Given the description of an element on the screen output the (x, y) to click on. 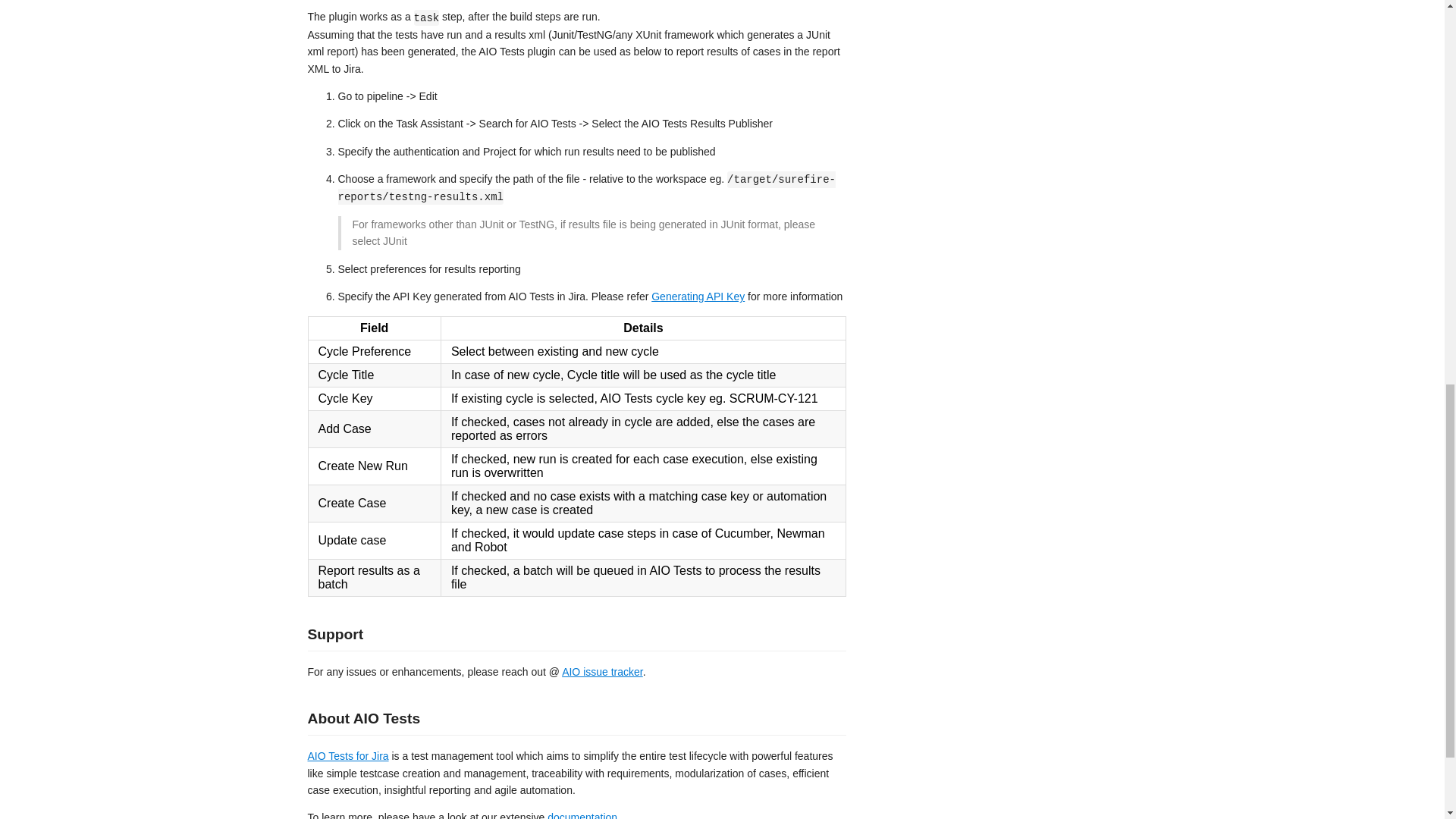
documentation (582, 815)
Generating API Key (697, 296)
AIO Tests for Jira (347, 756)
AIO issue tracker (602, 671)
